Given the description of an element on the screen output the (x, y) to click on. 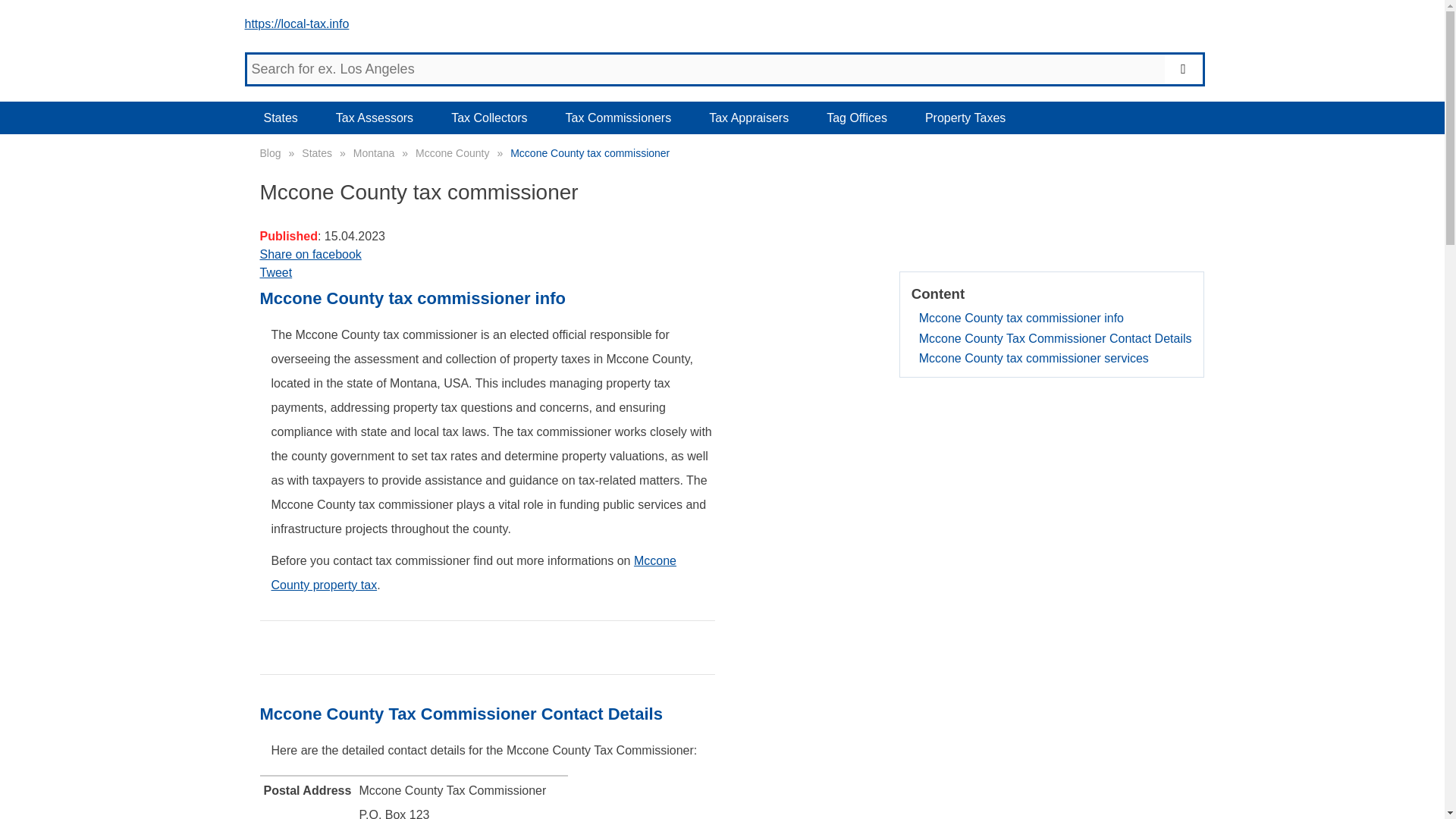
Share on facebook (722, 254)
States (279, 117)
